Given the description of an element on the screen output the (x, y) to click on. 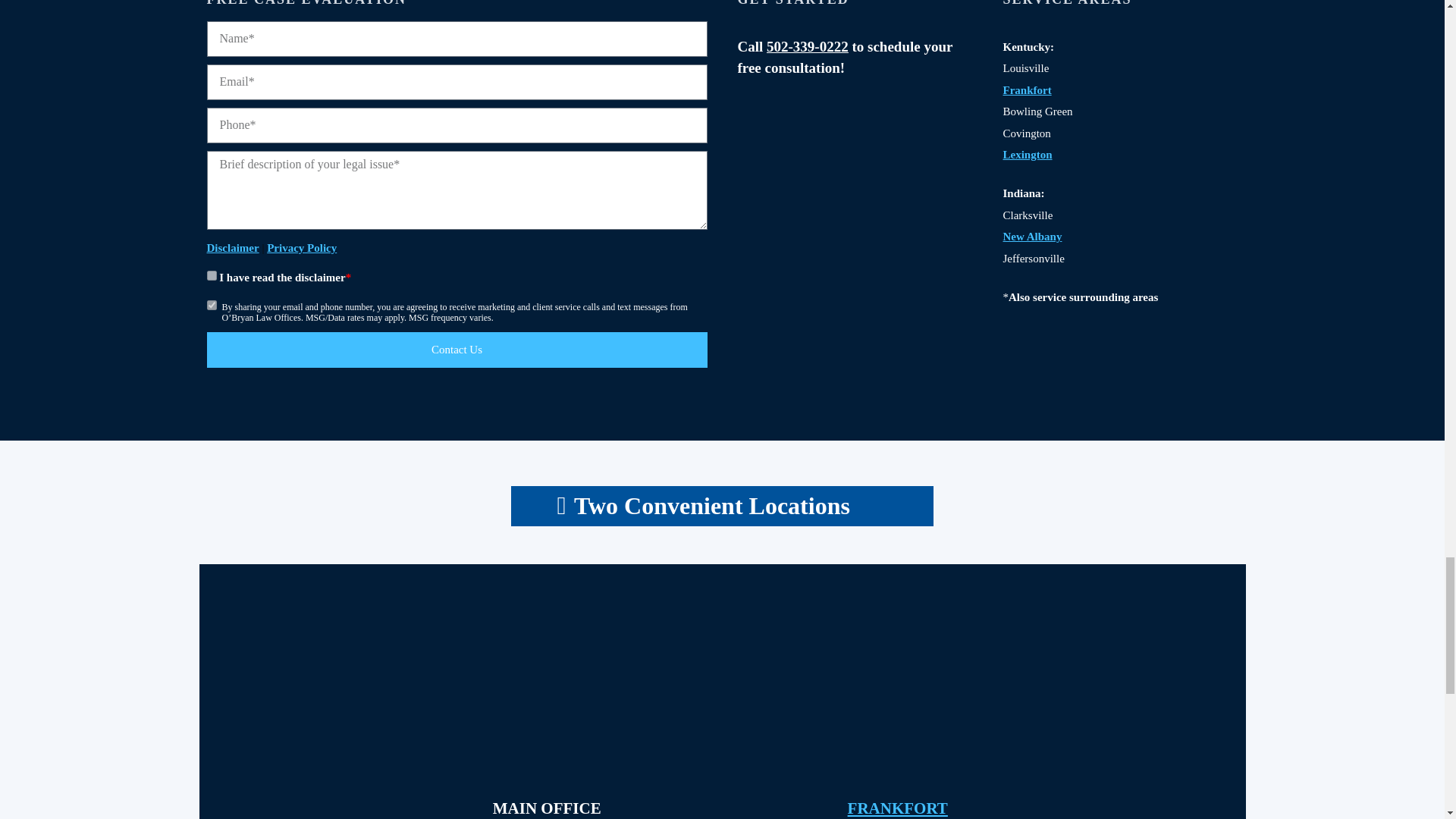
on (210, 305)
on (210, 275)
